Given the description of an element on the screen output the (x, y) to click on. 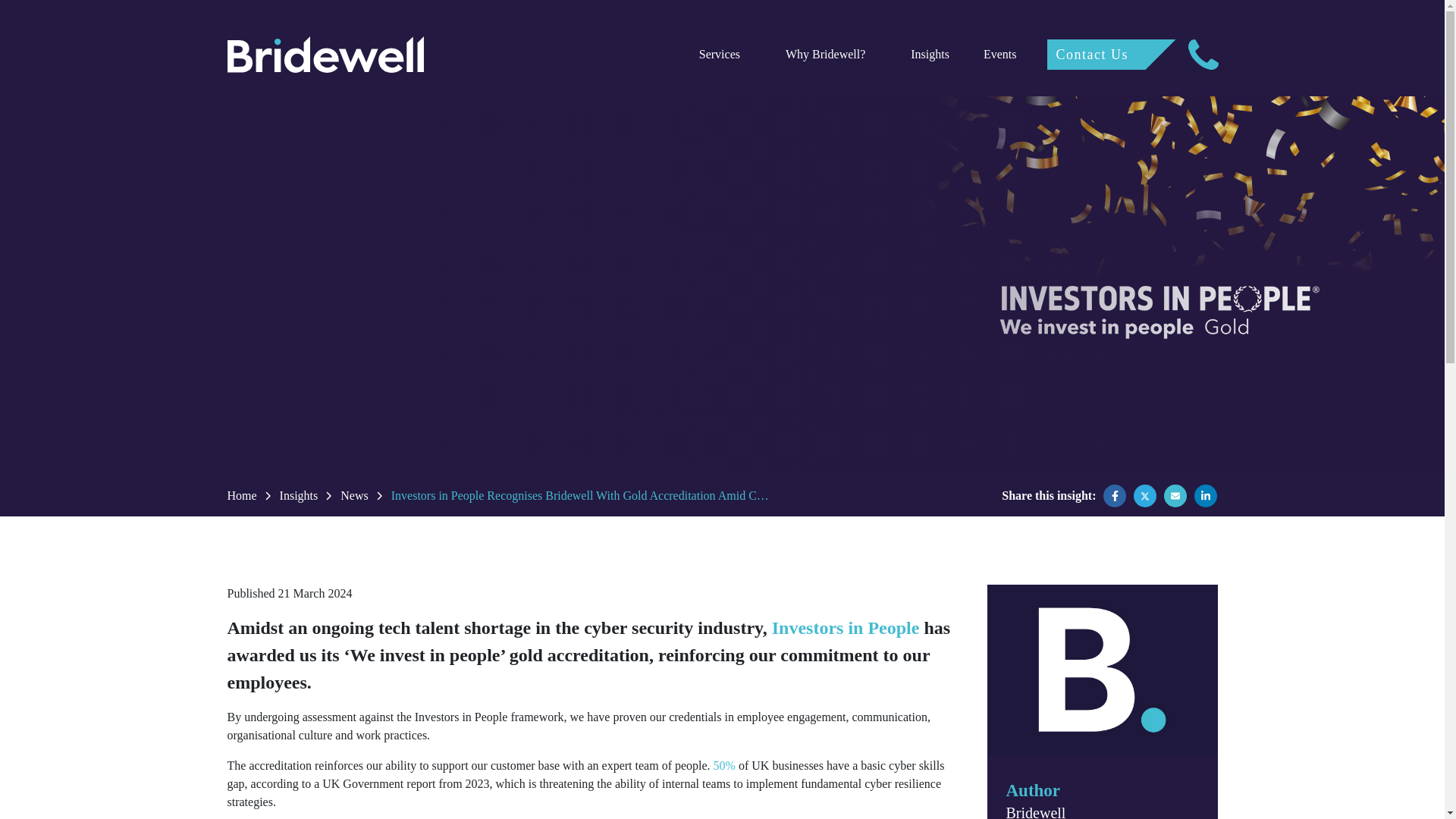
Services (718, 54)
Call us (1203, 54)
Bridewell logo (1102, 669)
